Given the description of an element on the screen output the (x, y) to click on. 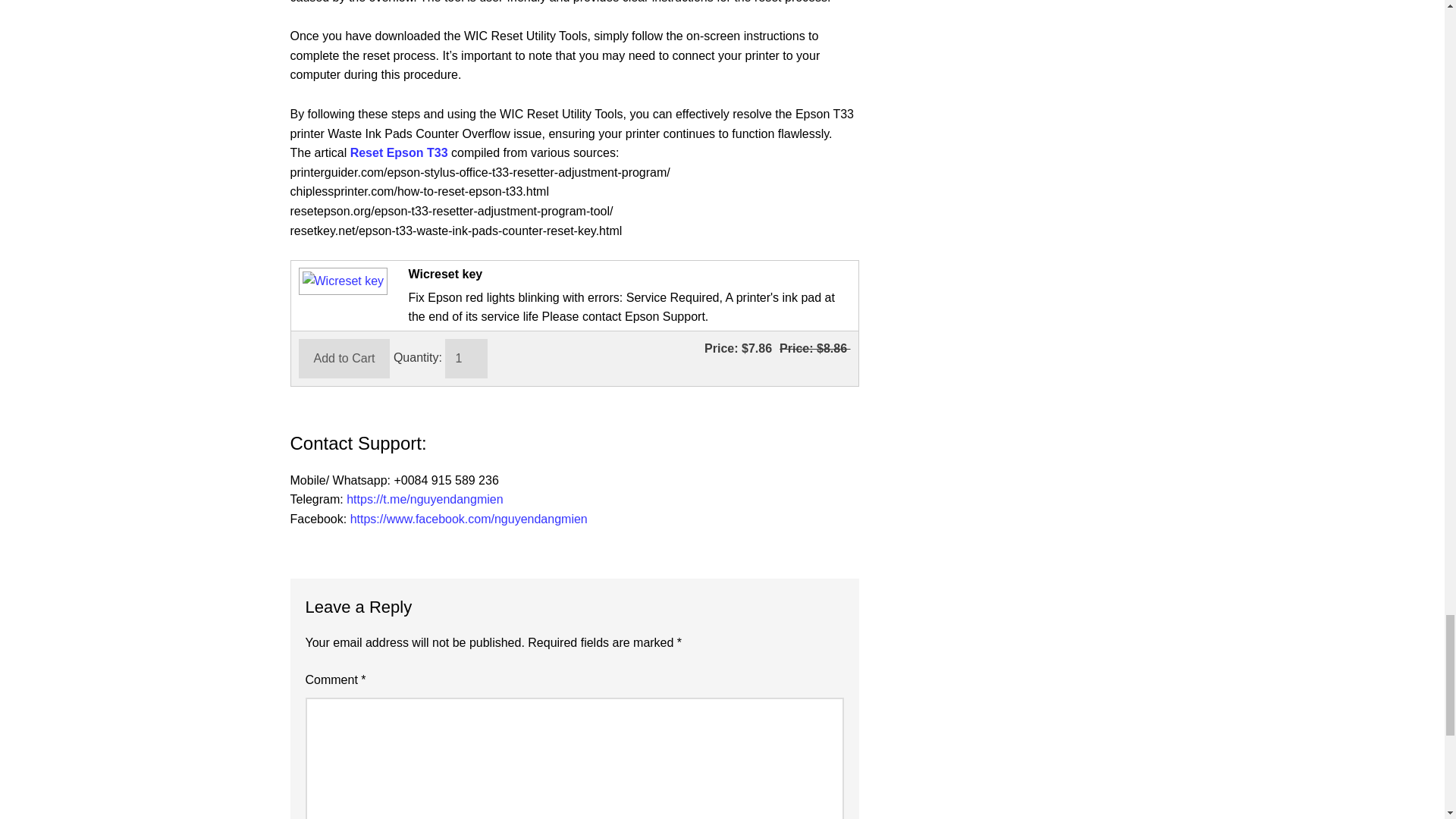
Reset Epson T33 (399, 152)
1 (466, 358)
Add to Cart (344, 358)
Add to Cart (344, 358)
